Given the description of an element on the screen output the (x, y) to click on. 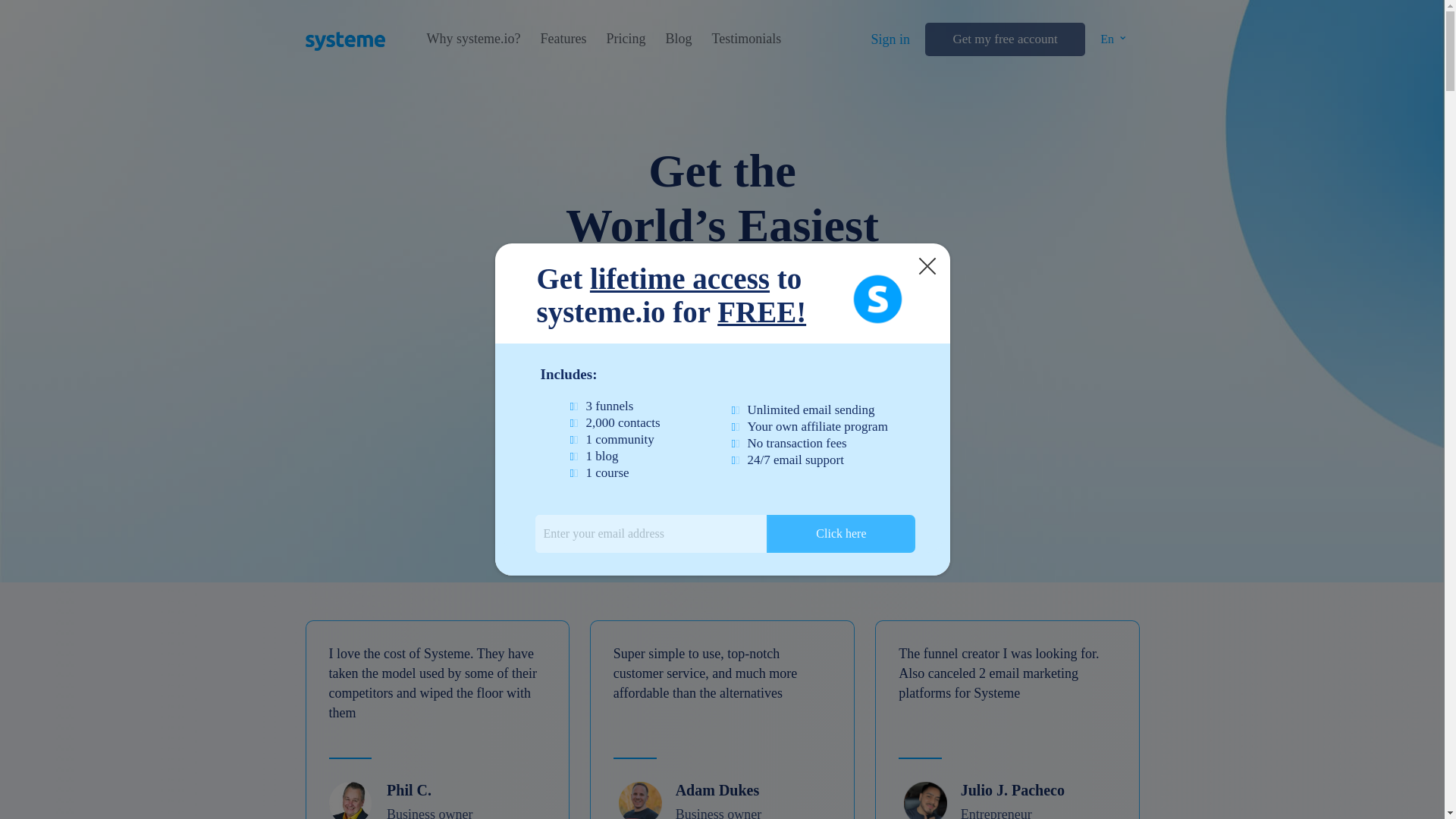
Sign in (890, 39)
Get my free account (1004, 39)
Why systeme.io? (472, 38)
Blog (678, 38)
Testimonials (745, 38)
Pricing (625, 38)
Features (563, 38)
